Given the description of an element on the screen output the (x, y) to click on. 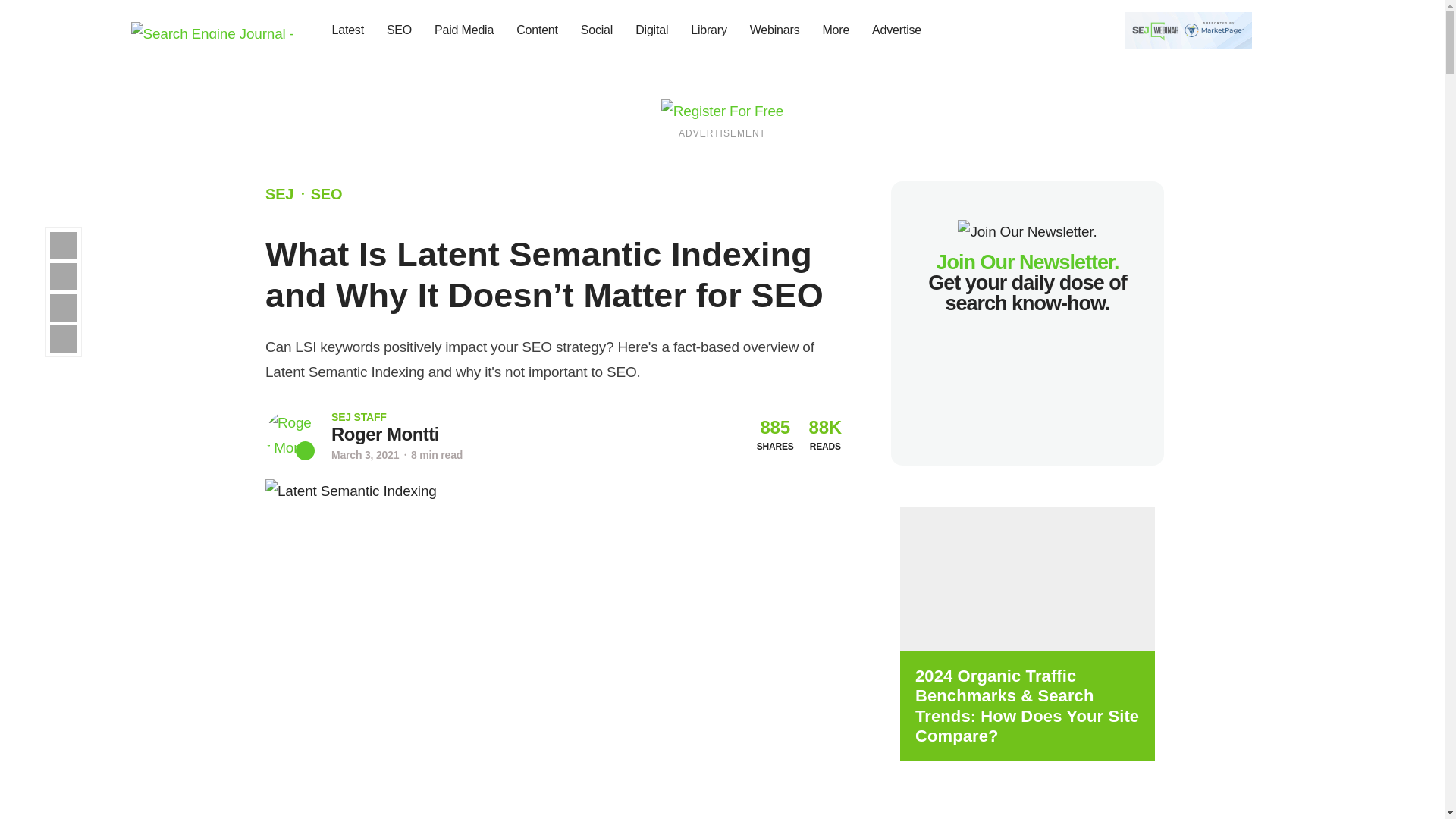
Subscribe to our Newsletter (1277, 30)
Special Offer (552, 815)
Register For Free (722, 109)
Paid Media (464, 30)
Go to Author Page (385, 434)
Go to Author Page (289, 435)
Latest (347, 30)
Register For Free (1187, 28)
